Given the description of an element on the screen output the (x, y) to click on. 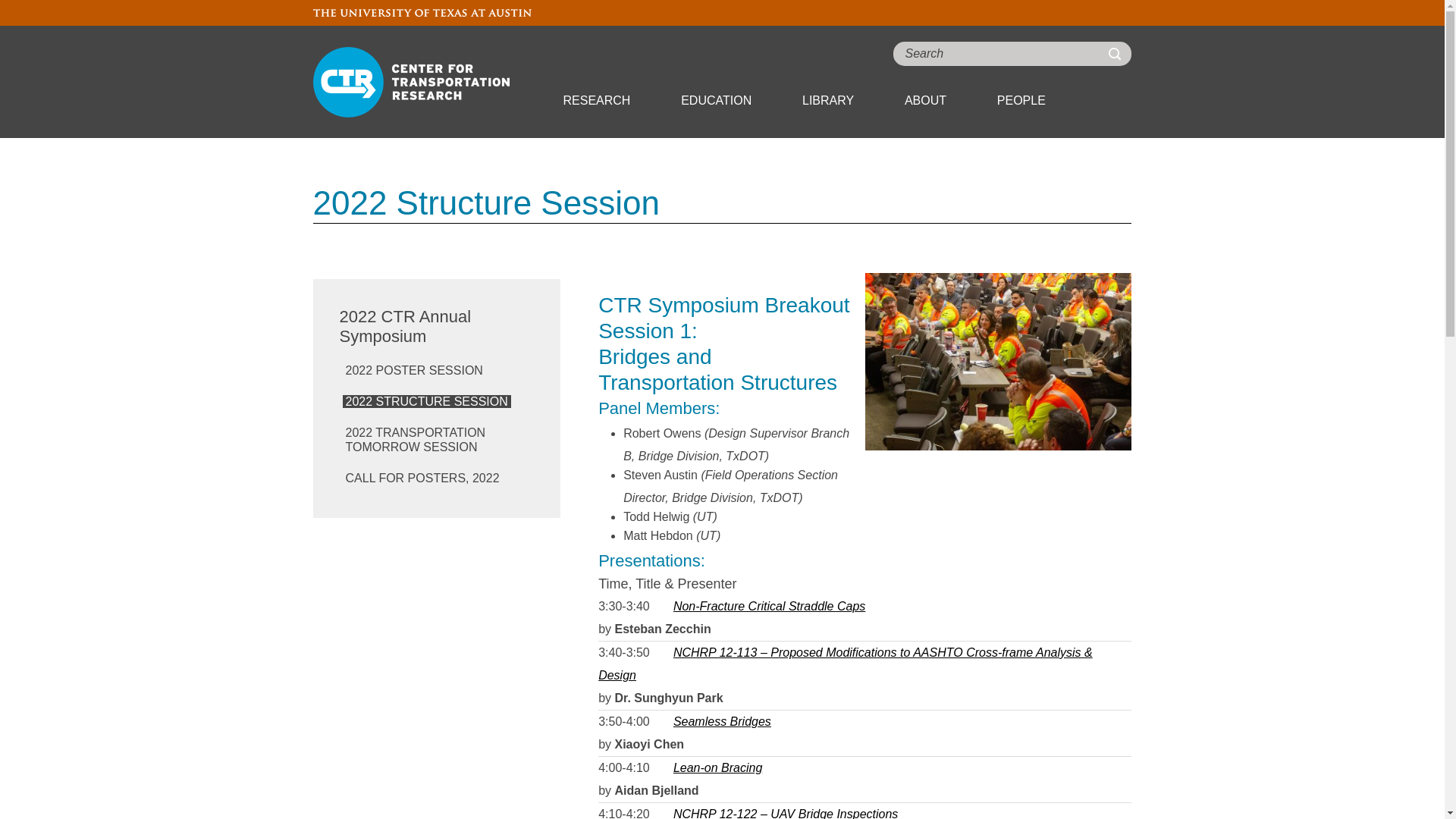
enter terms to search website (1012, 53)
ABOUT (925, 100)
RESEARCH (596, 100)
EDUCATION (716, 100)
TxDOT Research Library operated by CTR Library (827, 100)
LIBRARY (827, 100)
